Given the description of an element on the screen output the (x, y) to click on. 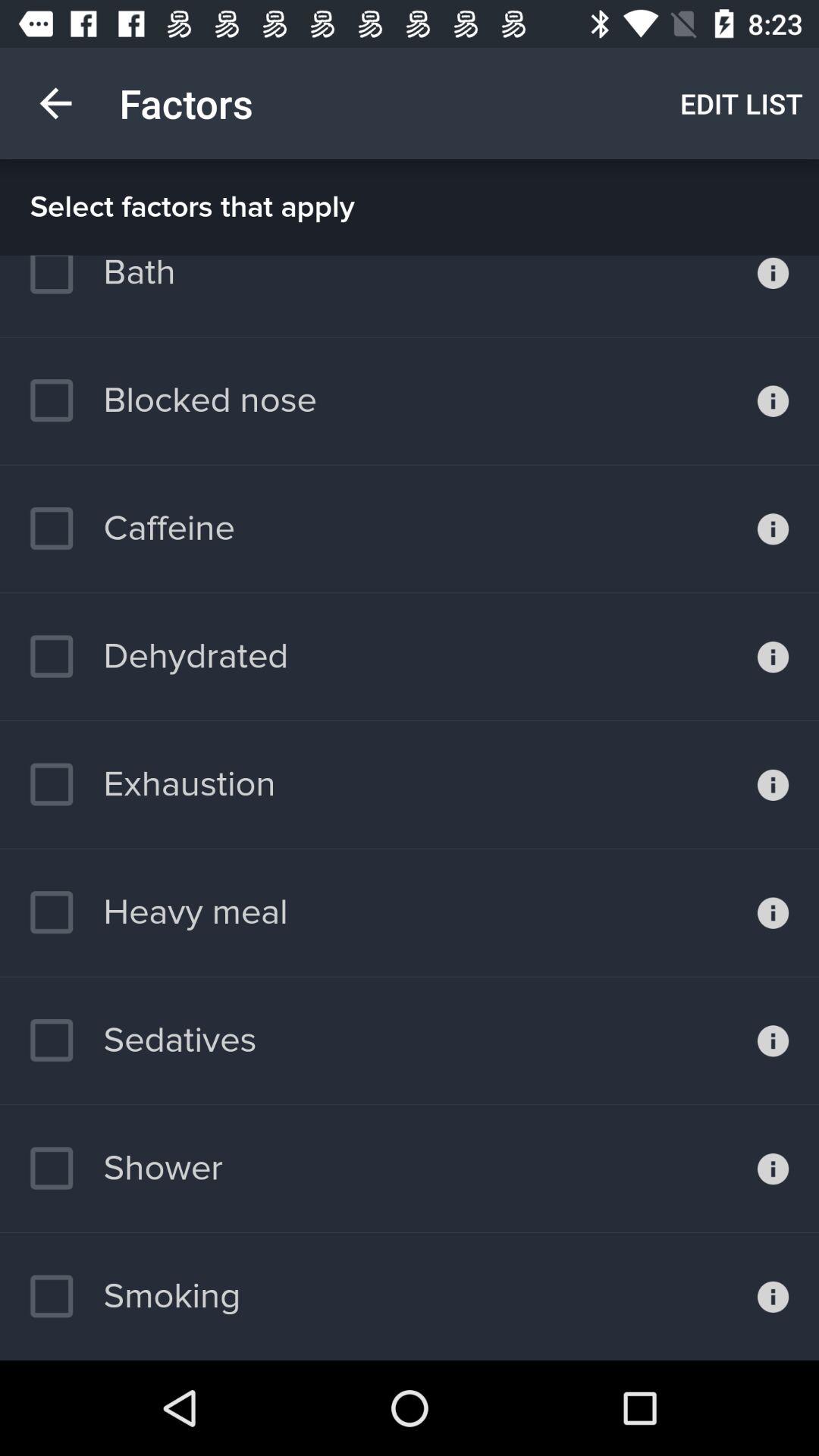
see information (773, 656)
